Given the description of an element on the screen output the (x, y) to click on. 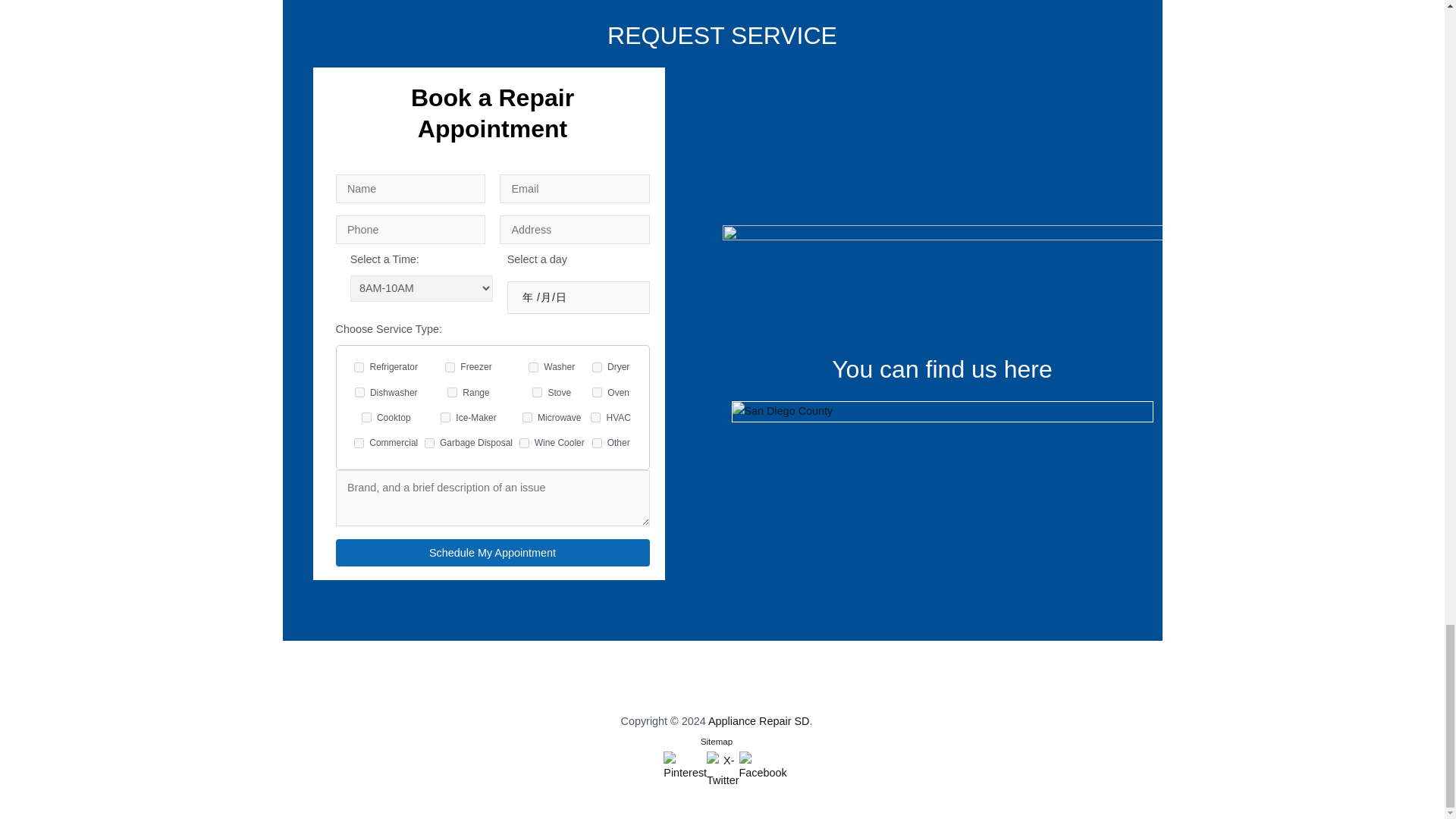
Dryer (597, 367)
Dishwasher (360, 392)
Cooktop (366, 417)
Commercial (358, 442)
Range (451, 392)
Garbage Disposal (429, 442)
Washer (533, 367)
Stove (536, 392)
Oven (597, 392)
Microwave (527, 417)
HVAC (595, 417)
Ice-Maker (445, 417)
Appliance Repair SD (758, 720)
Refrigerator (358, 367)
Freezer (449, 367)
